Given the description of an element on the screen output the (x, y) to click on. 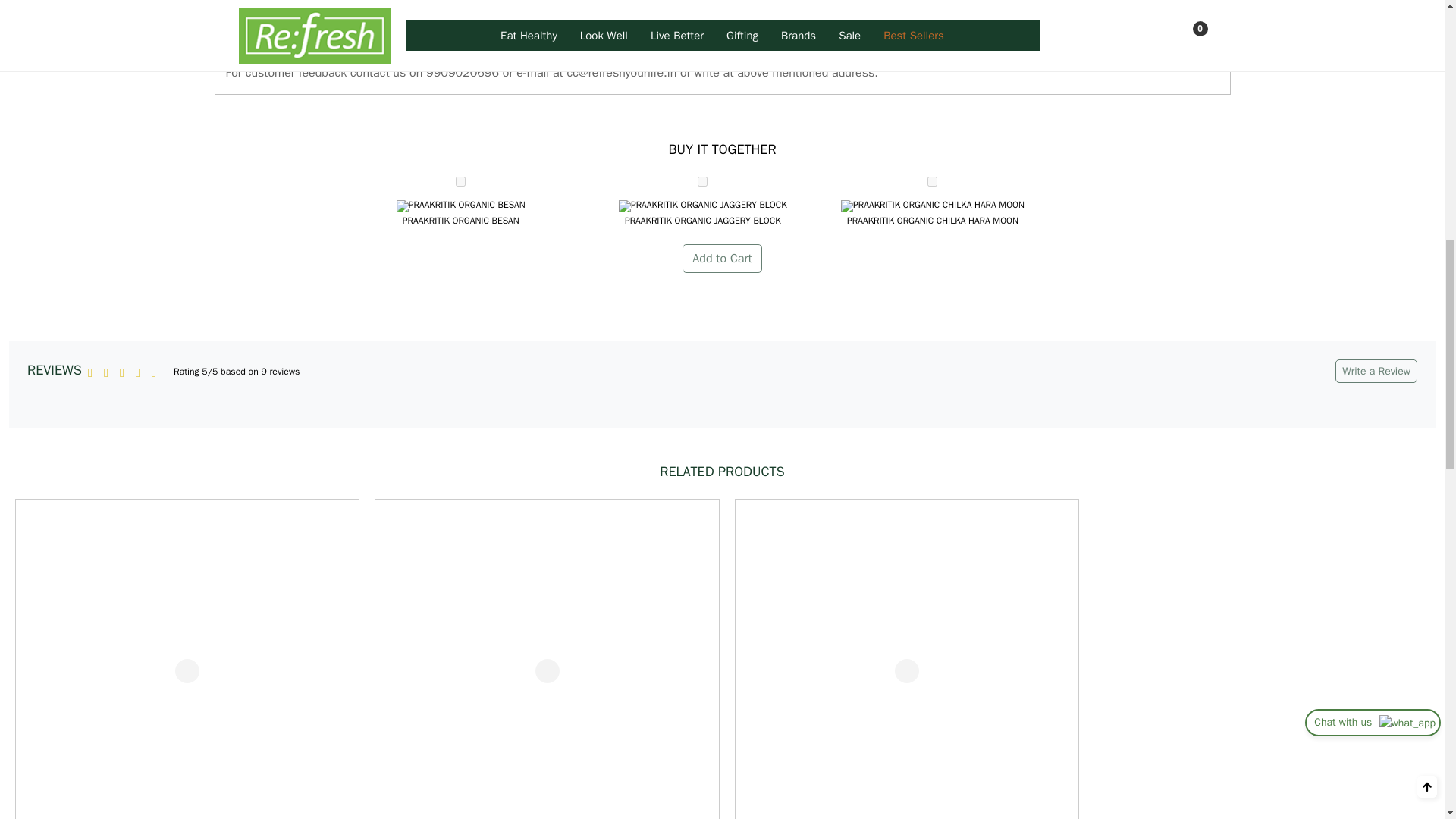
714359 (702, 181)
714378 (932, 181)
714342 (460, 181)
